Given the description of an element on the screen output the (x, y) to click on. 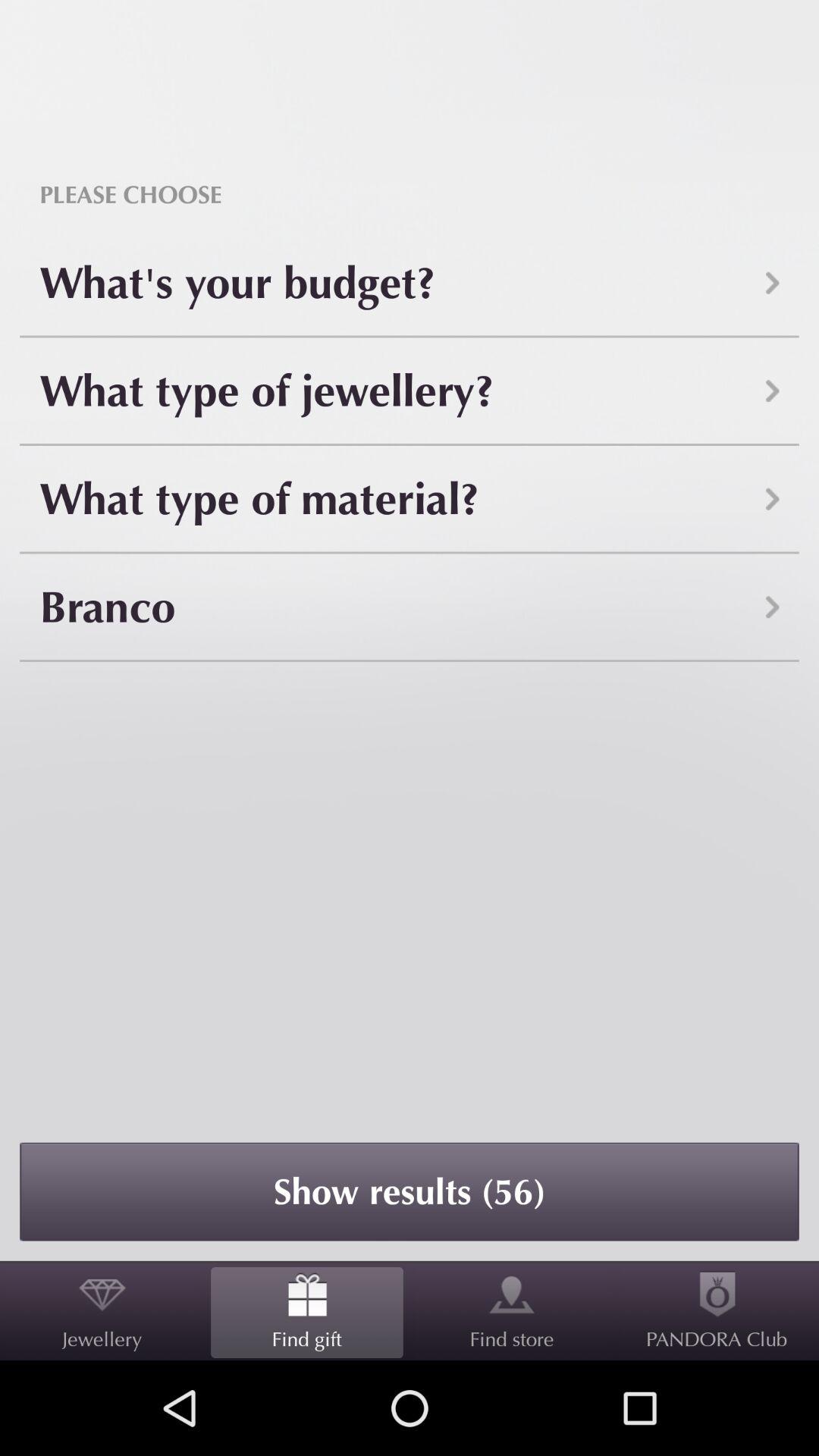
choose show results (56) button (409, 1191)
